Given the description of an element on the screen output the (x, y) to click on. 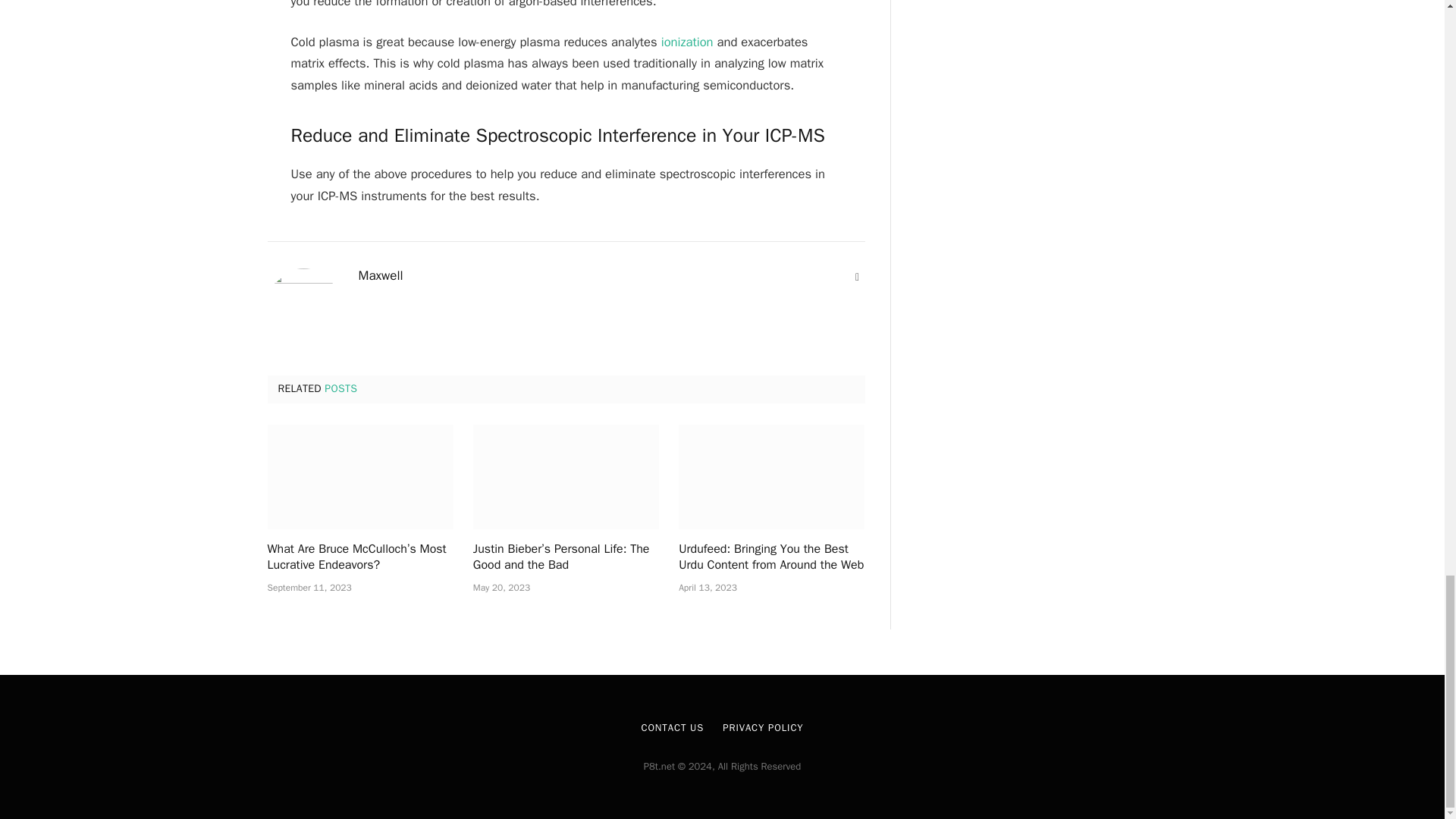
Website (856, 277)
ionization (687, 41)
Website (856, 277)
Maxwell (380, 275)
Posts by Maxwell (380, 275)
